Given the description of an element on the screen output the (x, y) to click on. 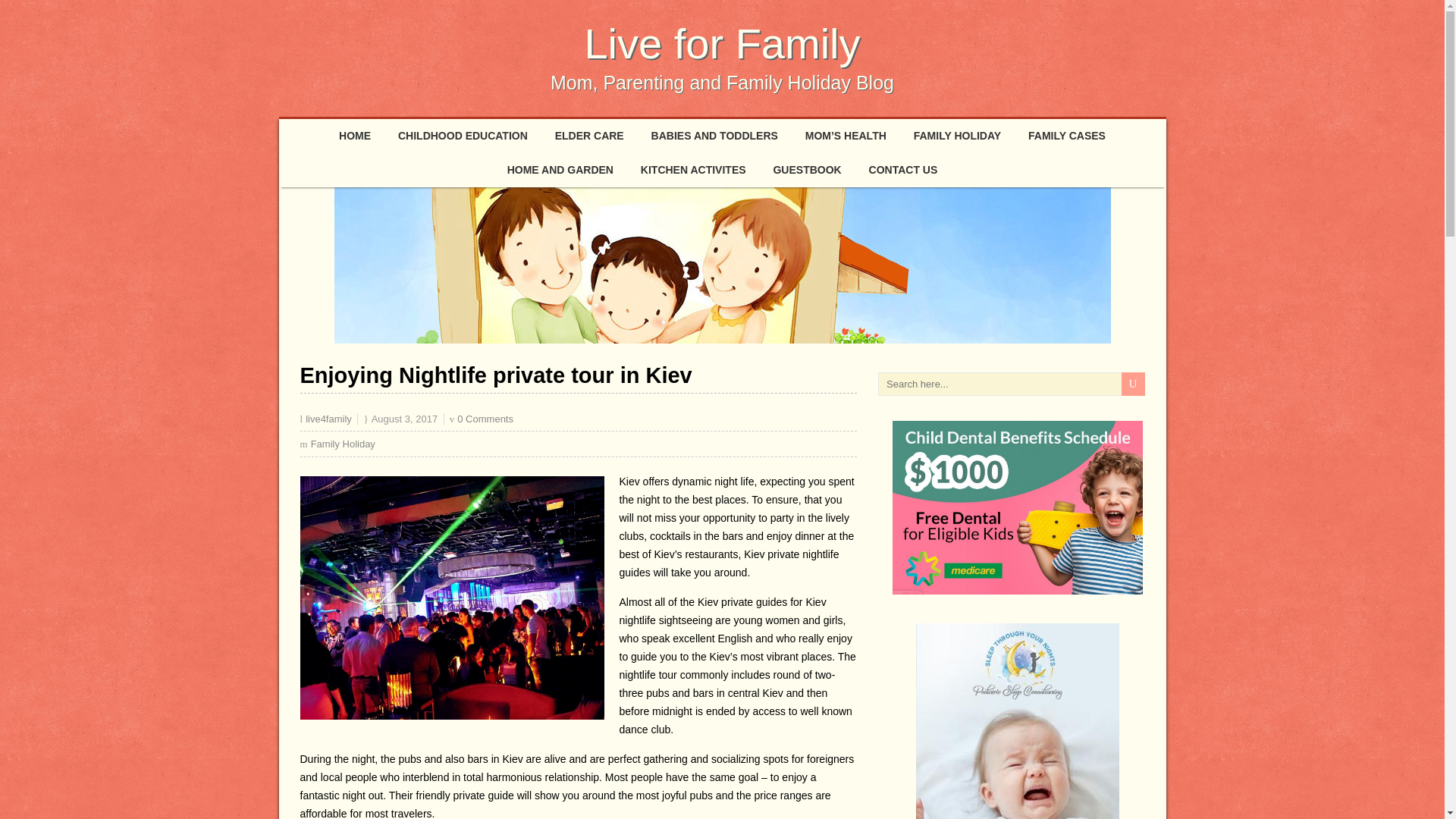
Family Holiday (343, 443)
U (1132, 383)
FAMILY CASES (1067, 135)
U (1132, 383)
KITCHEN ACTIVITES (693, 170)
FAMILY HOLIDAY (957, 135)
GUESTBOOK (806, 170)
live4family (328, 419)
CHILDHOOD EDUCATION (462, 135)
BABIES AND TODDLERS (714, 135)
